Given the description of an element on the screen output the (x, y) to click on. 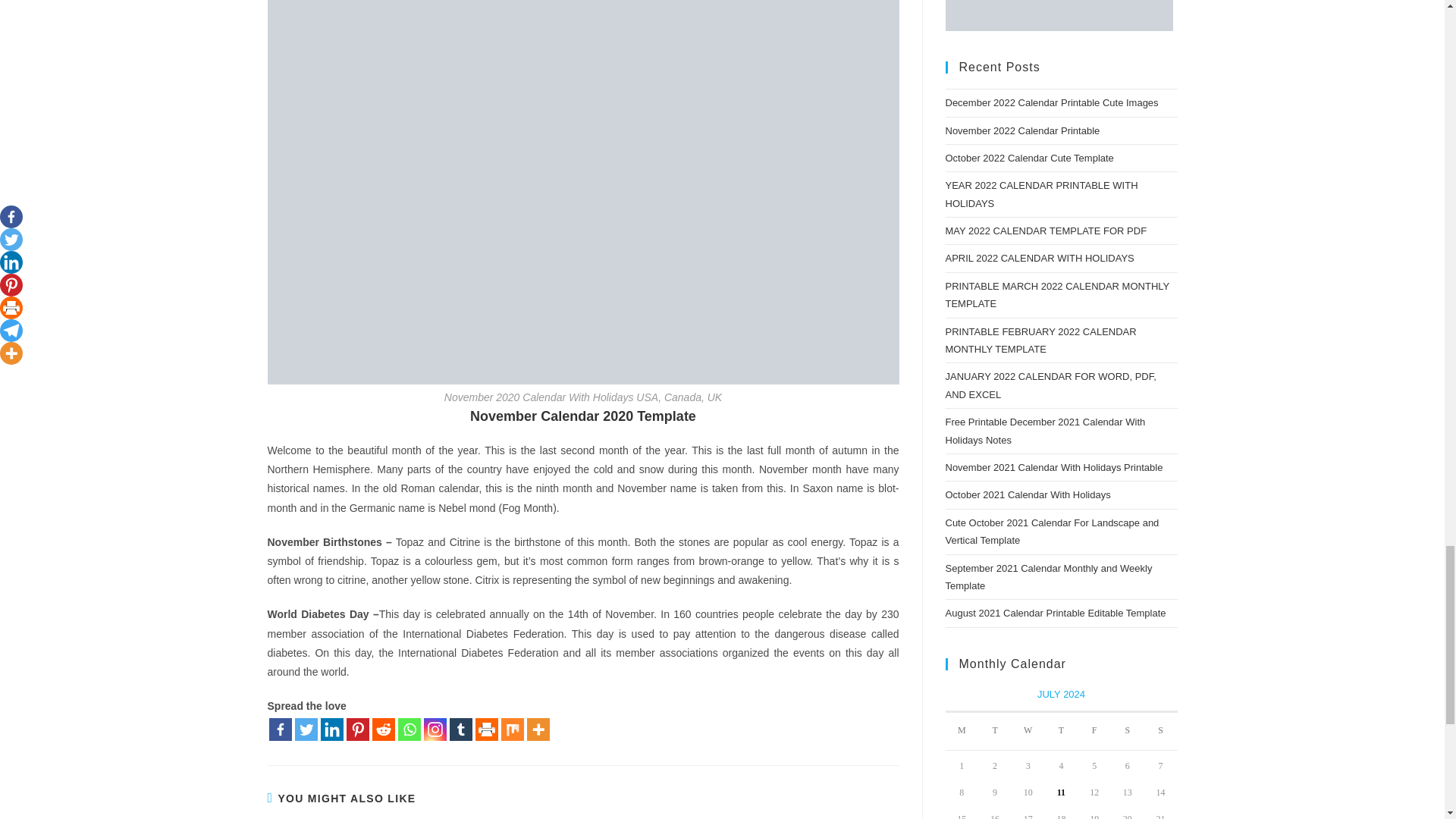
More (536, 729)
Tumblr (459, 729)
Mix (511, 729)
Reddit (382, 729)
Twitter (305, 729)
Pinterest (357, 729)
Whatsapp (408, 729)
Instagram (434, 729)
Print (485, 729)
Linkedin (331, 729)
Facebook (279, 729)
